Given the description of an element on the screen output the (x, y) to click on. 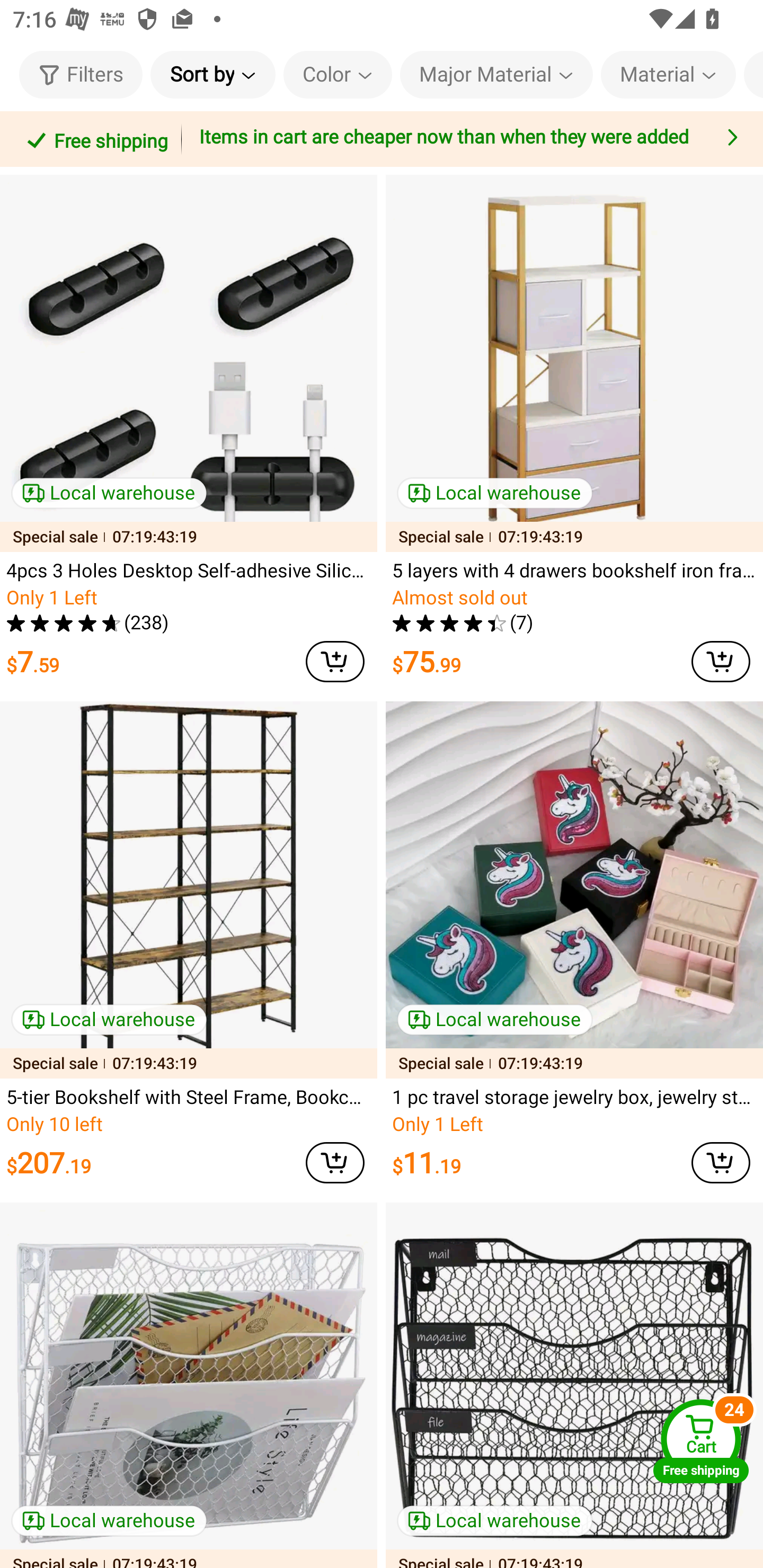
Filters (80, 74)
Sort by (212, 74)
Color (337, 74)
Major Material (495, 74)
Material (668, 74)
 Free shipping (93, 138)
Cart Free shipping Cart (701, 1440)
